Given the description of an element on the screen output the (x, y) to click on. 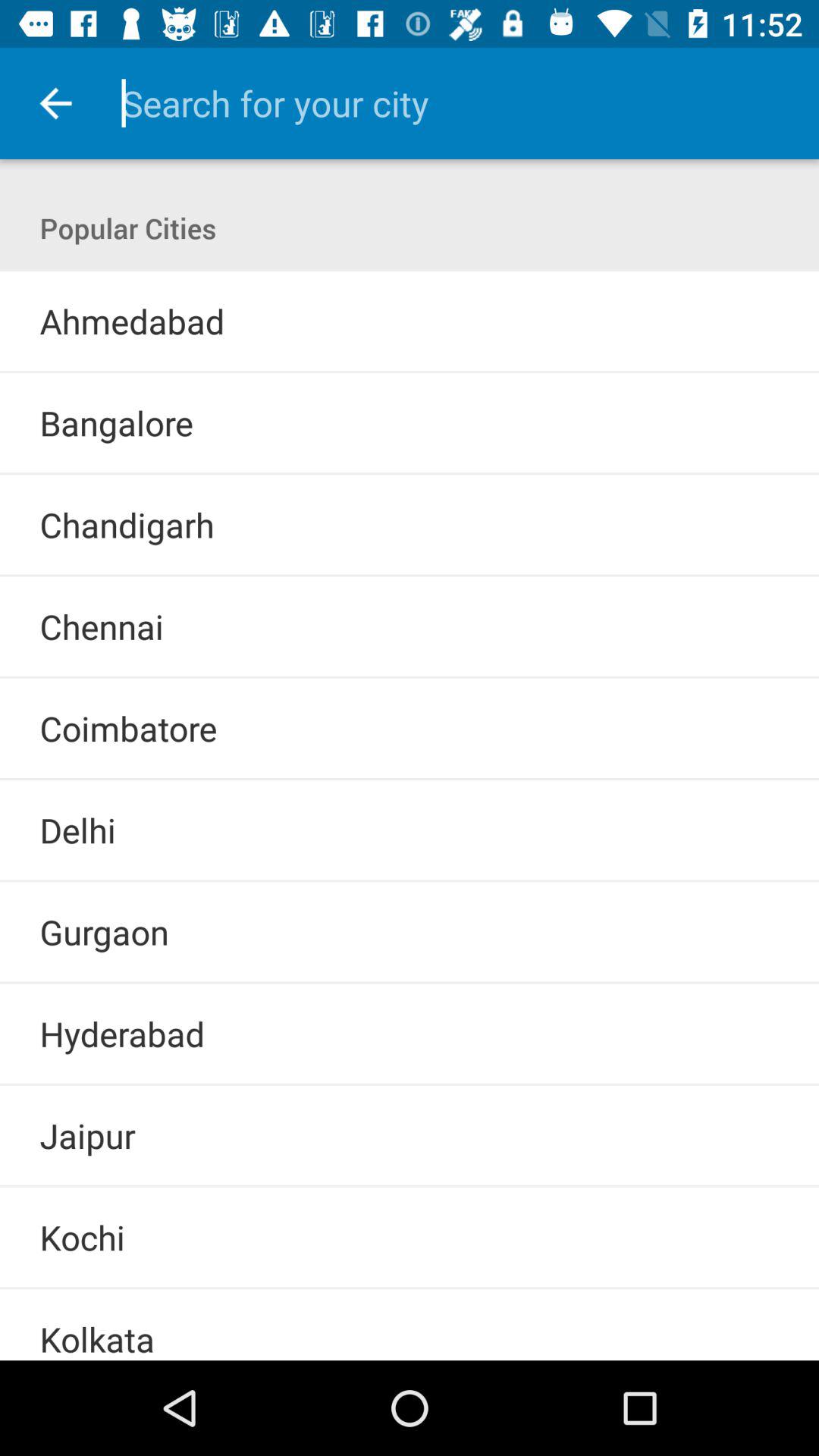
choose the coimbatore icon (128, 728)
